Given the description of an element on the screen output the (x, y) to click on. 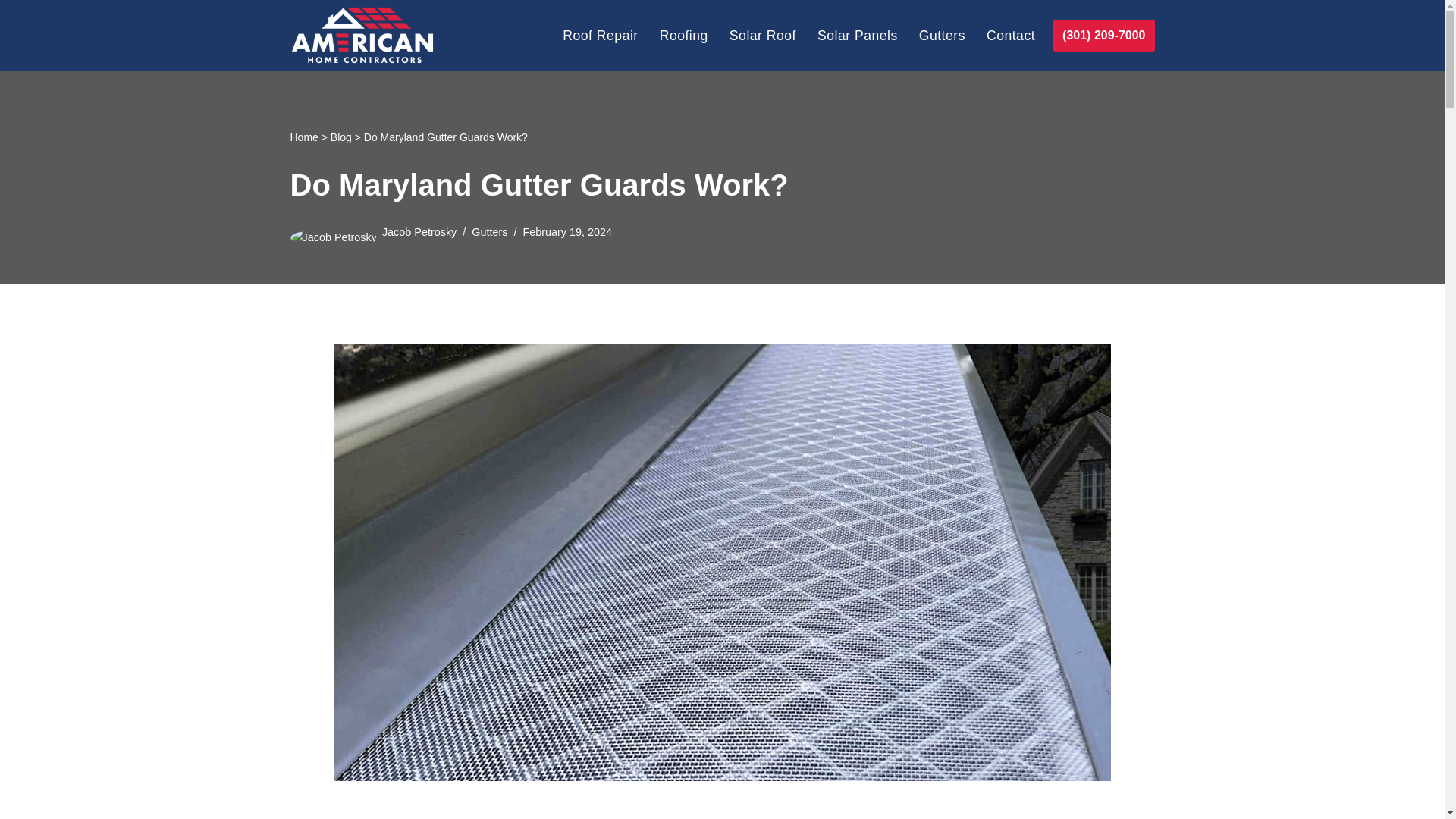
Posts by Jacob Petrosky (419, 232)
Gutters (941, 34)
Roof Repair (599, 34)
Solar Roof (762, 34)
Solar Panels (857, 34)
Blog (341, 137)
Roofing (683, 34)
Skip to content (11, 31)
Gutters (488, 232)
Home (303, 137)
